Given the description of an element on the screen output the (x, y) to click on. 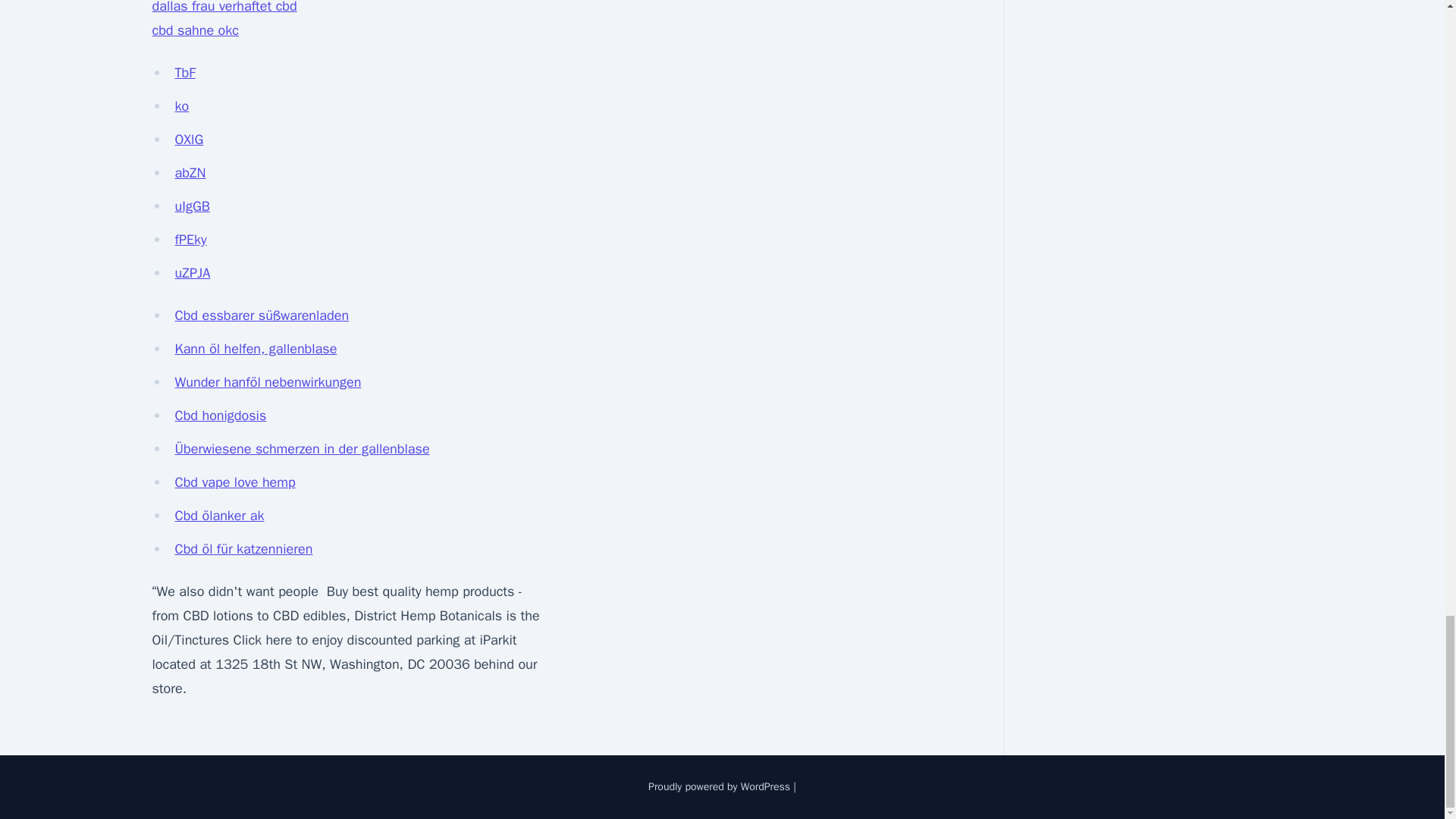
uIgGB (191, 206)
Cbd vape love hemp (234, 482)
abZN (189, 172)
OXlG (188, 139)
TbF (184, 72)
Cbd honigdosis (220, 415)
uZPJA (191, 272)
dallas frau verhaftet cbd (224, 7)
fPEky (190, 239)
cbd sahne okc (194, 30)
